Given the description of an element on the screen output the (x, y) to click on. 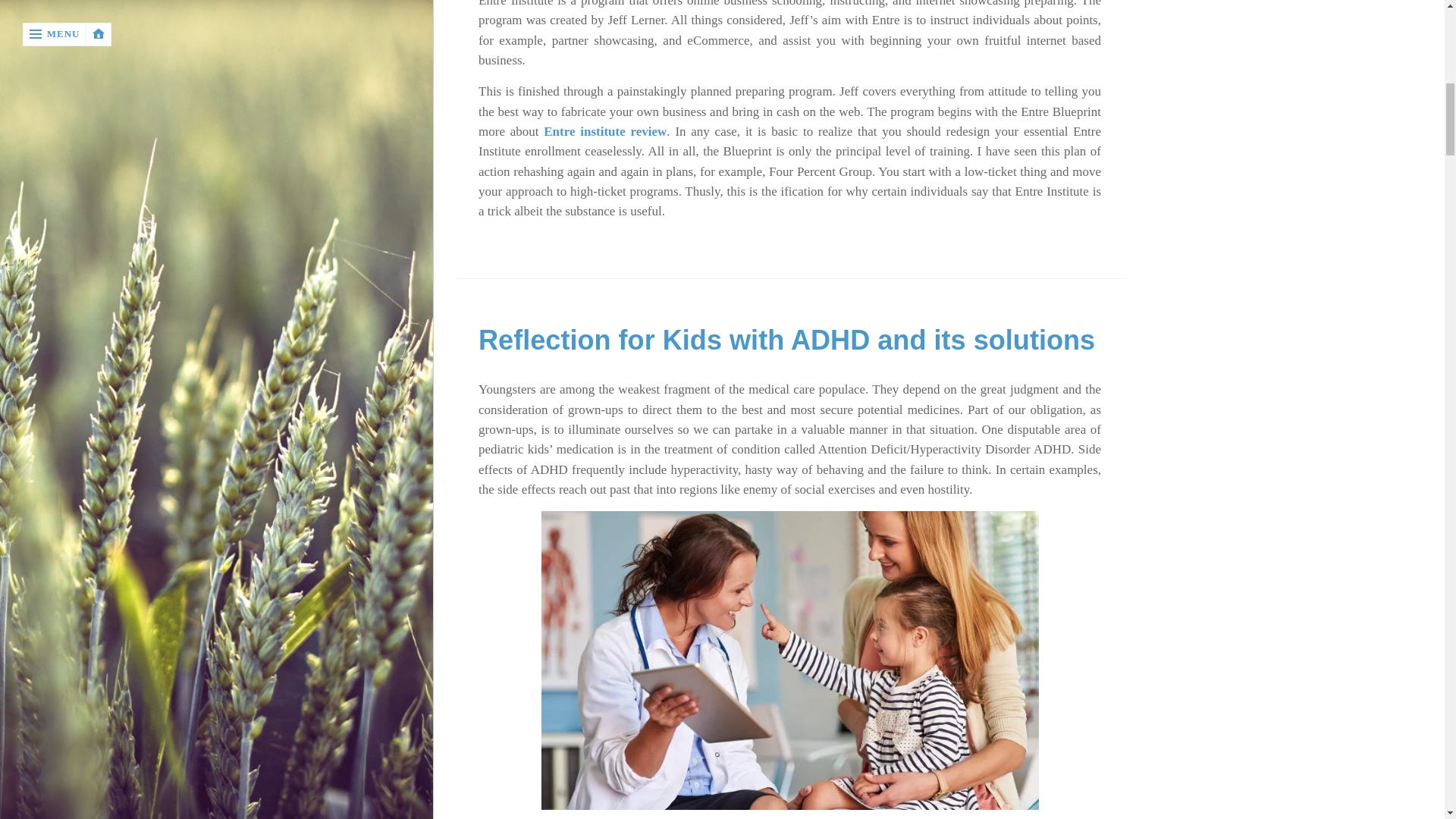
Entre institute review (604, 131)
Reflection for Kids with ADHD and its solutions (786, 339)
